Given the description of an element on the screen output the (x, y) to click on. 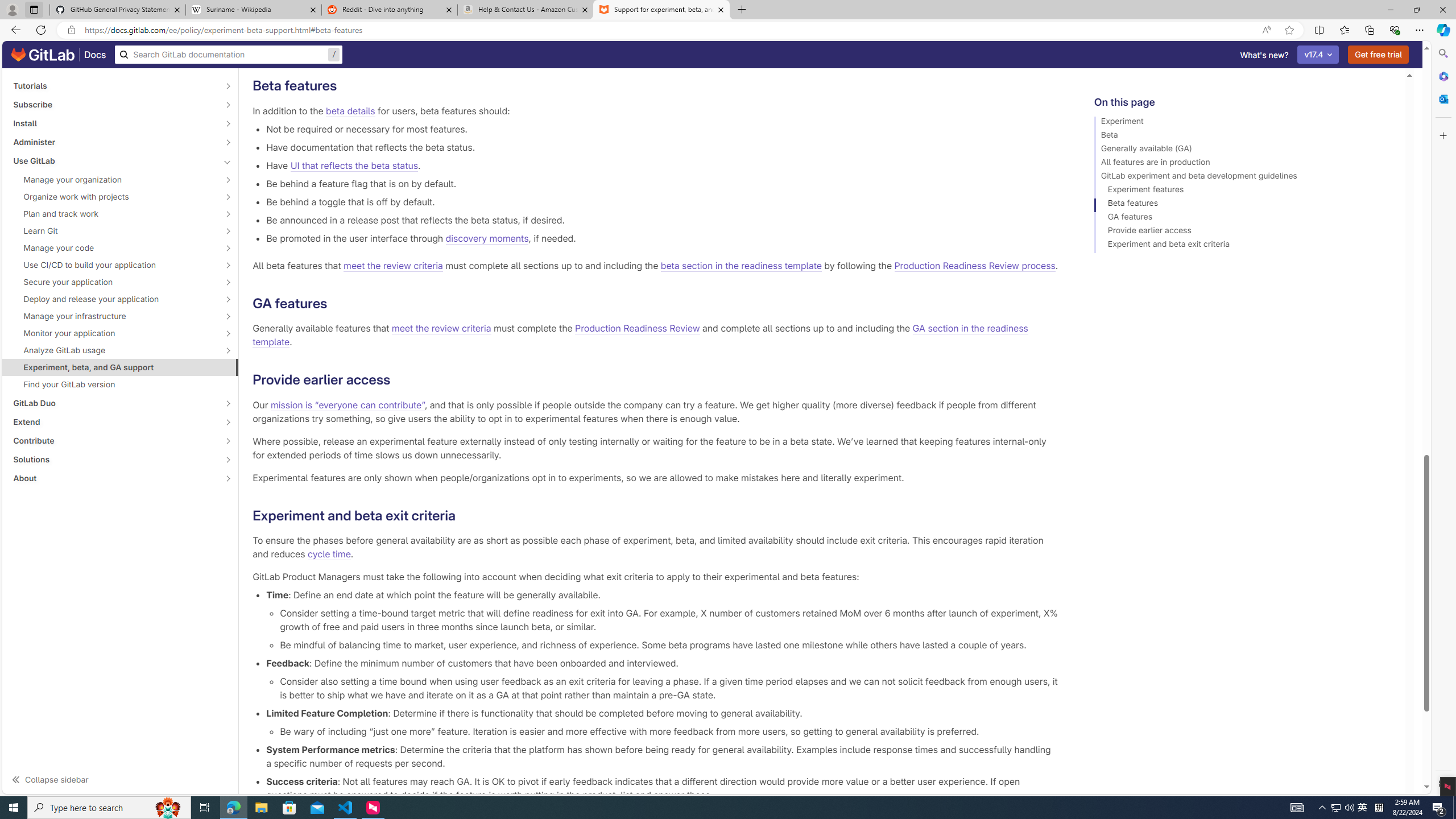
Be behind a feature flag that is on by default. (662, 183)
Subscribe (113, 104)
Extend (113, 421)
Manage your organization (113, 179)
GA section in the readiness template (639, 335)
Get free trial (1378, 54)
Find your GitLab version (120, 384)
Secure your application (113, 281)
All features are in production (1244, 164)
UI that reflects the beta status (353, 164)
Generally available (GA) (1244, 150)
